Given the description of an element on the screen output the (x, y) to click on. 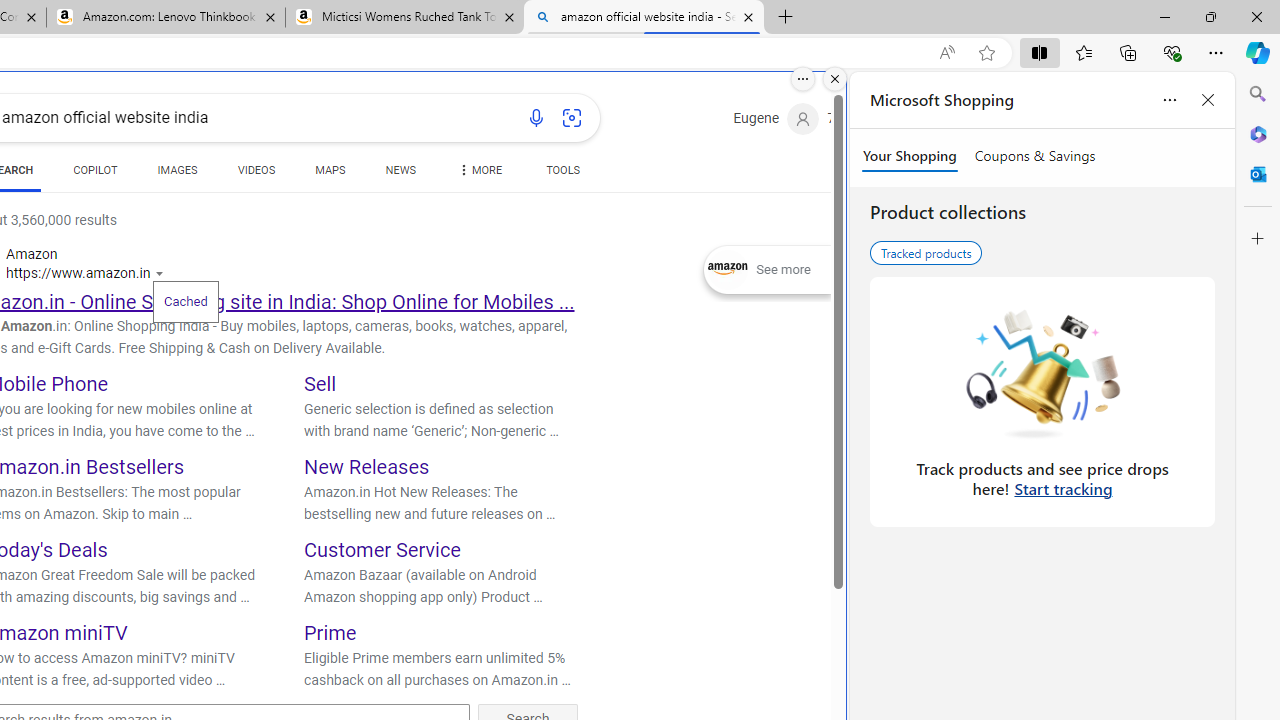
VIDEOS (256, 170)
TOOLS (562, 173)
amazon official website india - Search (643, 17)
Collections (1128, 52)
Dropdown Menu (478, 170)
Eugene (776, 119)
Search using voice (536, 117)
Search using an image (572, 117)
Customer Service (382, 549)
MAPS (330, 173)
NEWS (400, 170)
Actions for this site (161, 273)
